Given the description of an element on the screen output the (x, y) to click on. 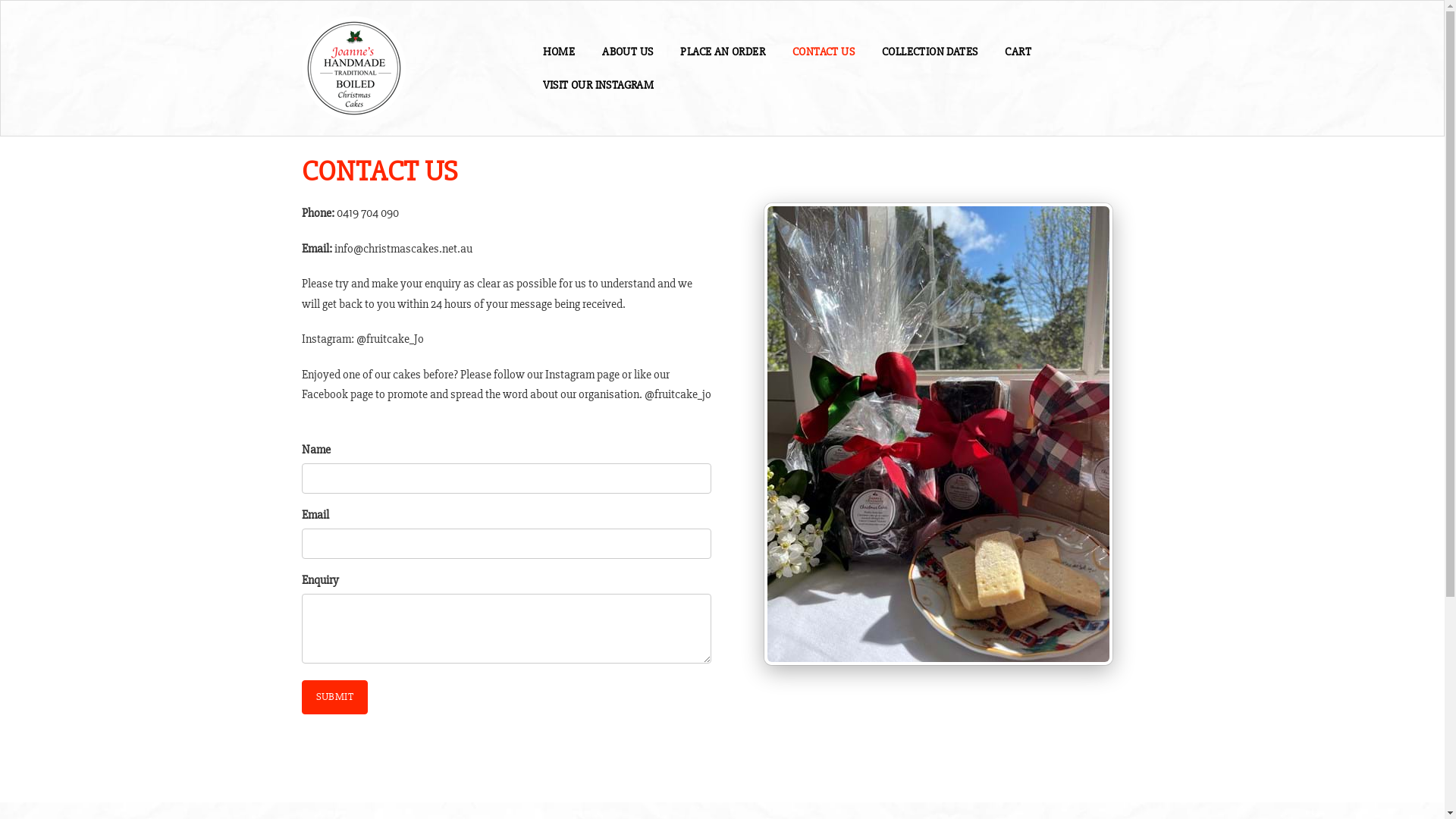
0419 704 090 Element type: text (367, 212)
VISIT OUR INSTAGRAM Element type: text (598, 84)
PLACE AN ORDER Element type: text (722, 51)
@fruitcake_Jo Element type: text (389, 338)
Submit Element type: text (334, 697)
CONTACT US Element type: text (823, 51)
HOME Element type: text (559, 51)
info@christmascakes.net.au Element type: text (402, 248)
CART Element type: text (1017, 51)
COLLECTION DATES Element type: text (929, 51)
@fruitcake_jo   Element type: text (506, 403)
ABOUT US Element type: text (627, 51)
